Given the description of an element on the screen output the (x, y) to click on. 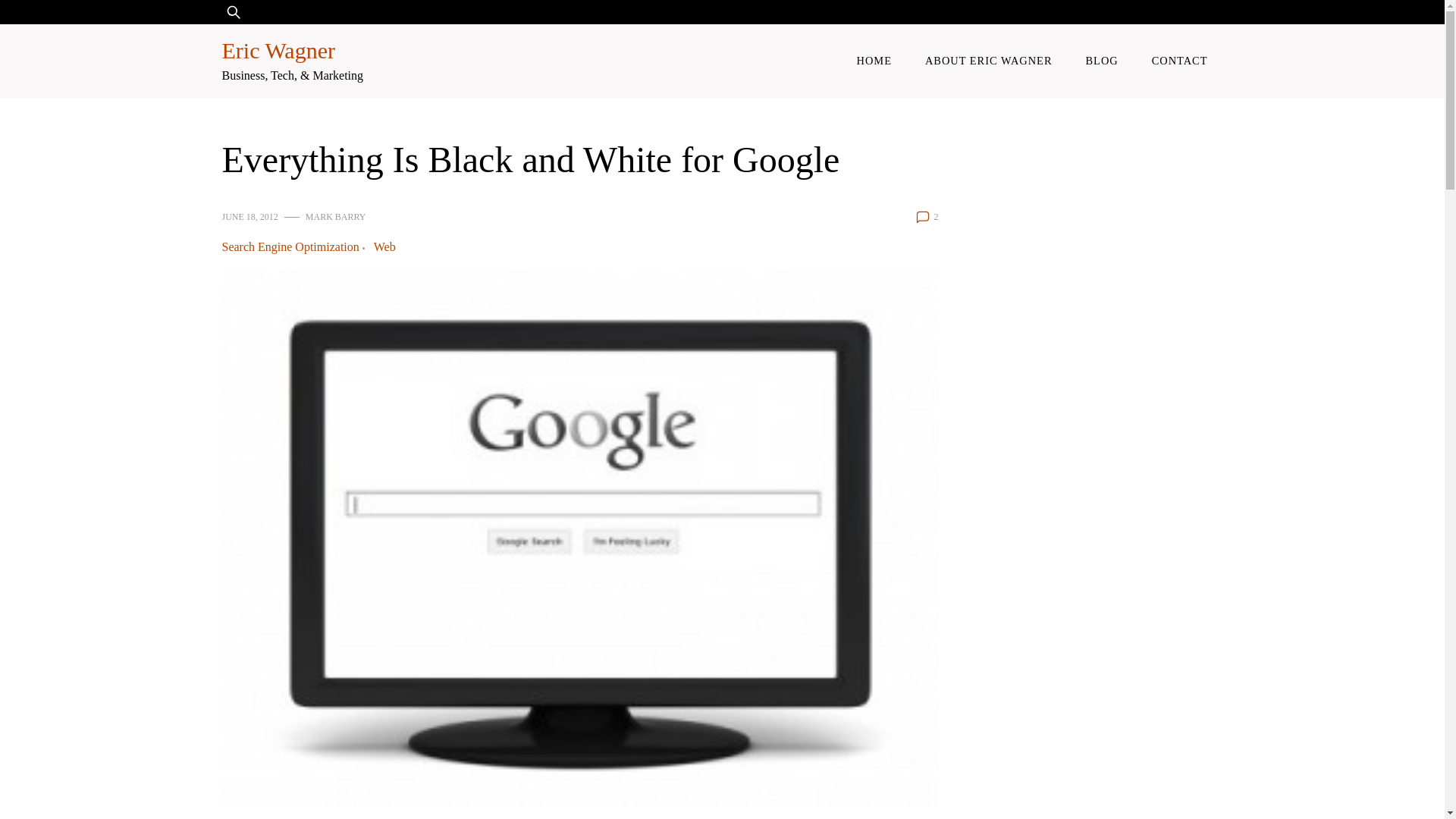
HOME (874, 60)
Eric Wagner (277, 50)
Web (385, 246)
ABOUT ERIC WAGNER (988, 60)
BLOG (1102, 60)
Search (56, 21)
MARK BARRY (335, 216)
JUNE 18, 2012 (249, 216)
CONTACT (1180, 60)
Search Engine Optimization (293, 246)
